Given the description of an element on the screen output the (x, y) to click on. 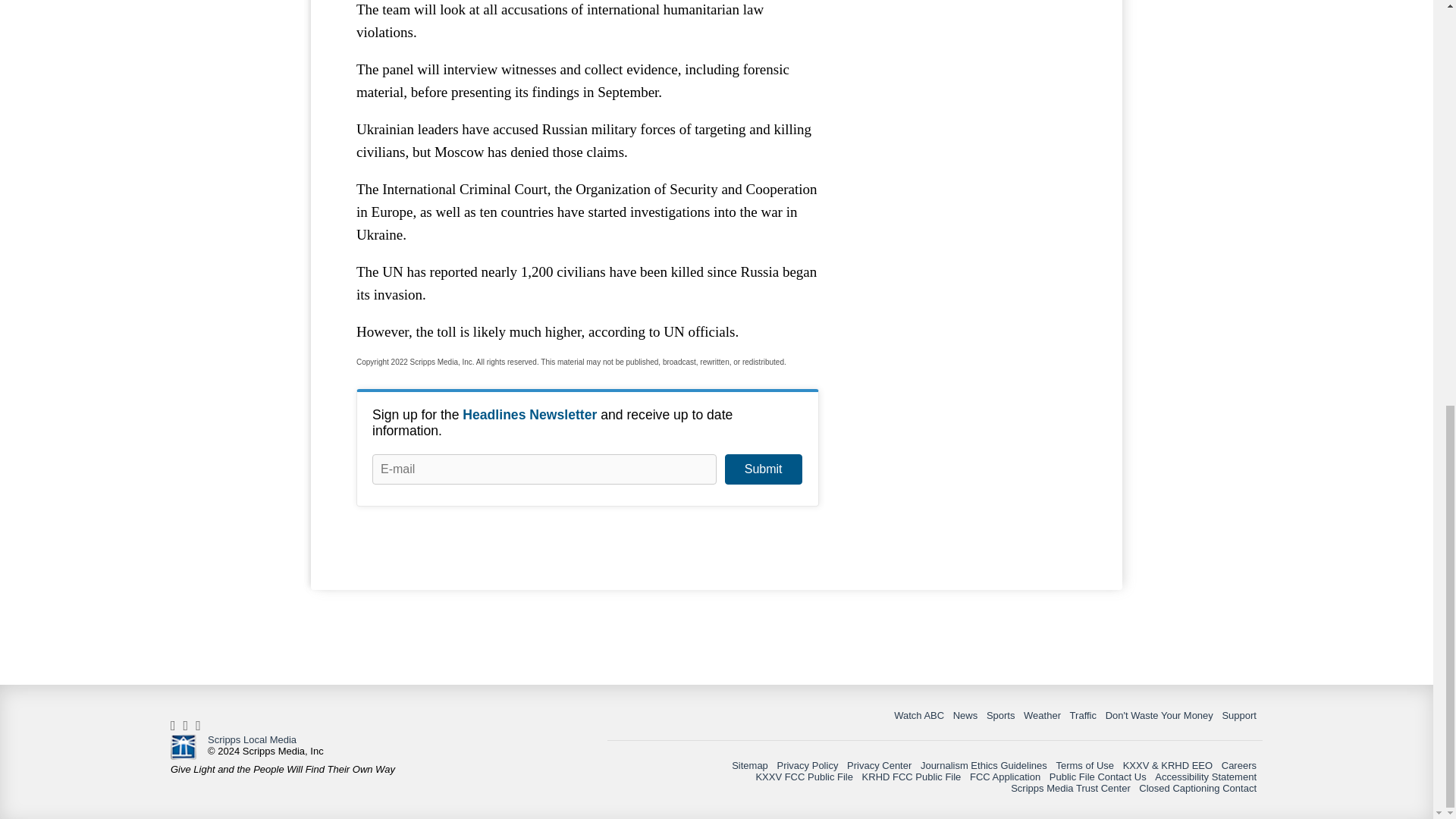
Submit (763, 469)
